Given the description of an element on the screen output the (x, y) to click on. 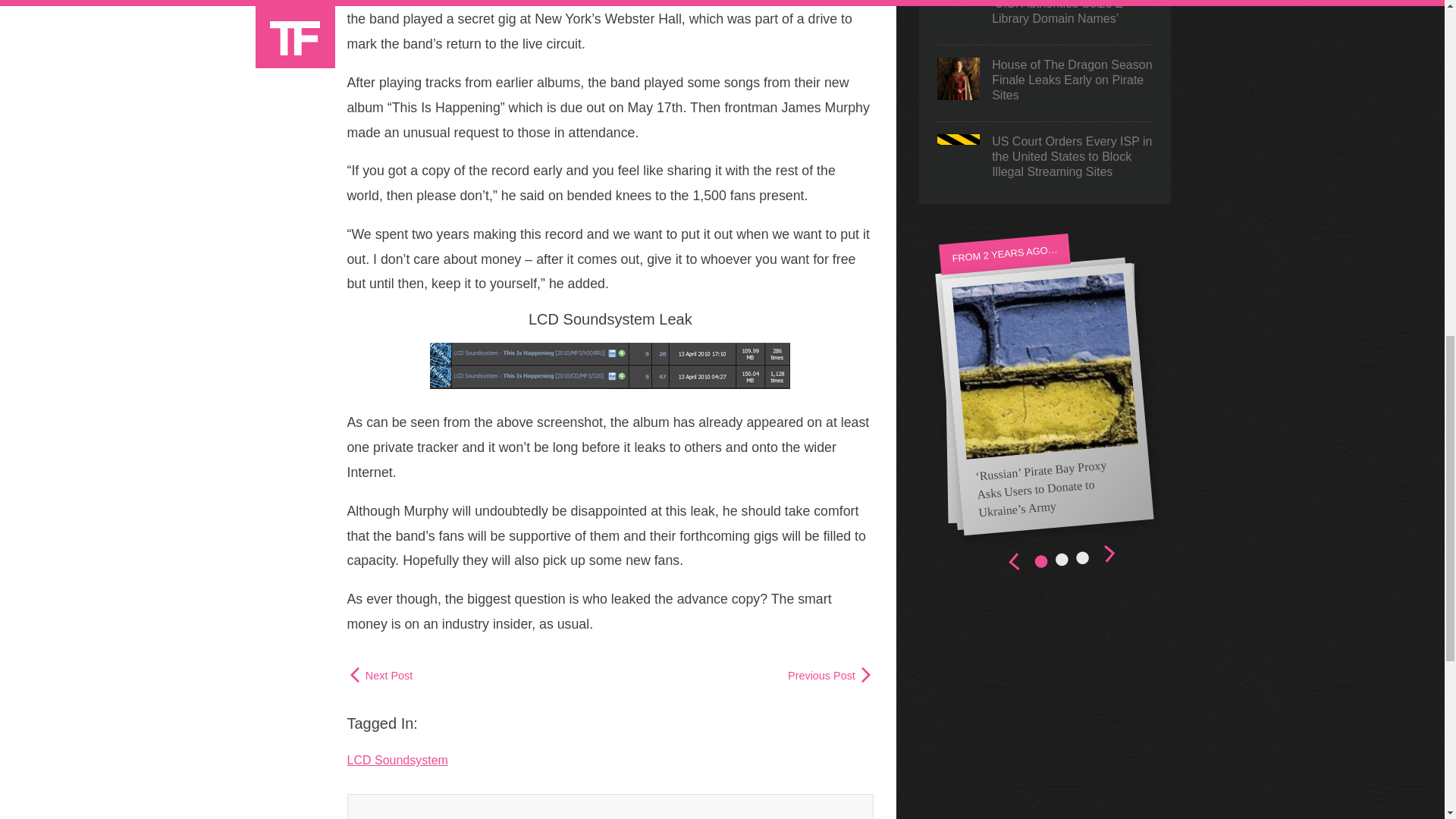
Next Post (380, 675)
NME (745, 1)
Previous Post (830, 675)
LCD Soundsystem (397, 759)
